Given the description of an element on the screen output the (x, y) to click on. 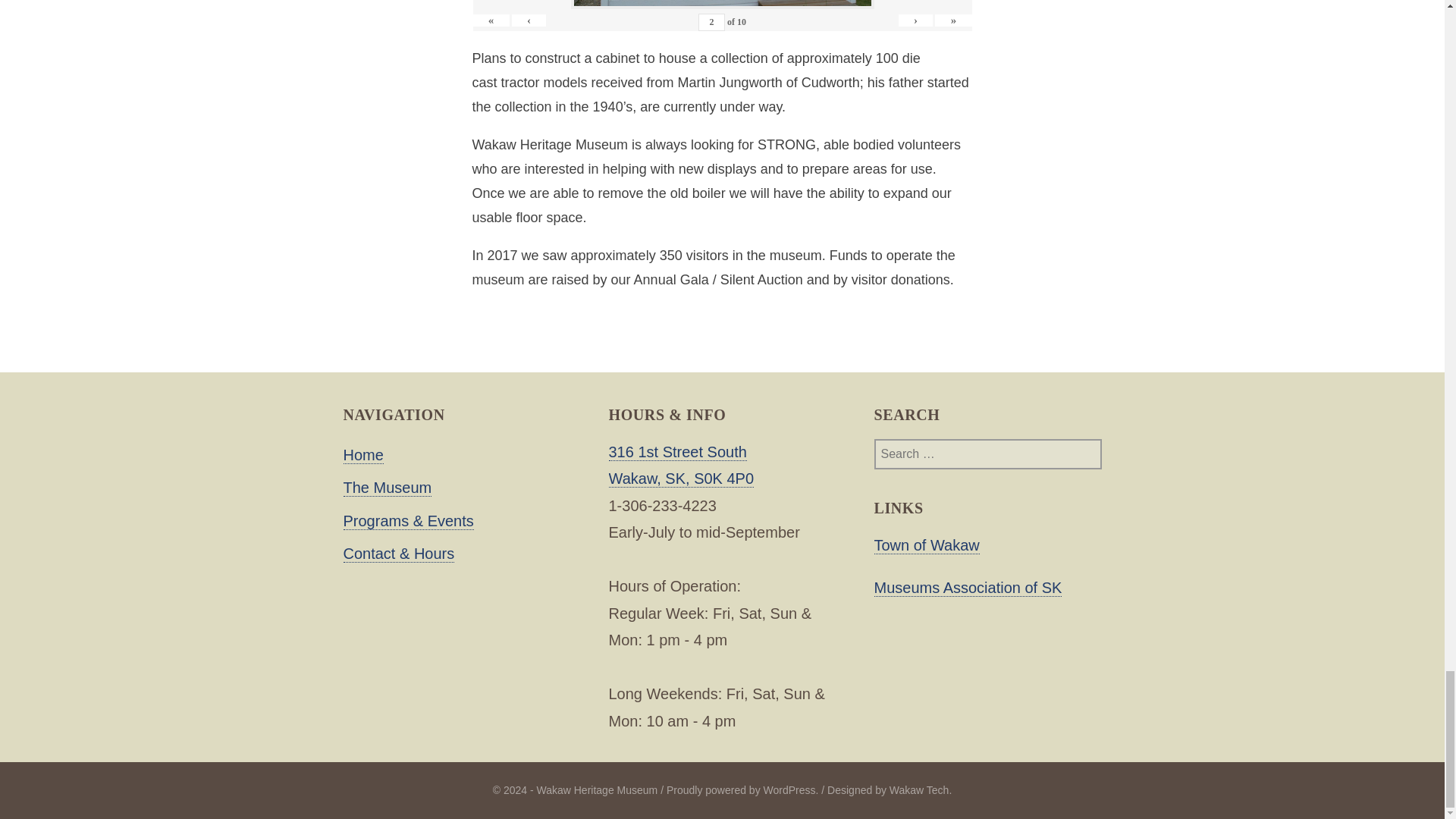
2 (711, 22)
